Given the description of an element on the screen output the (x, y) to click on. 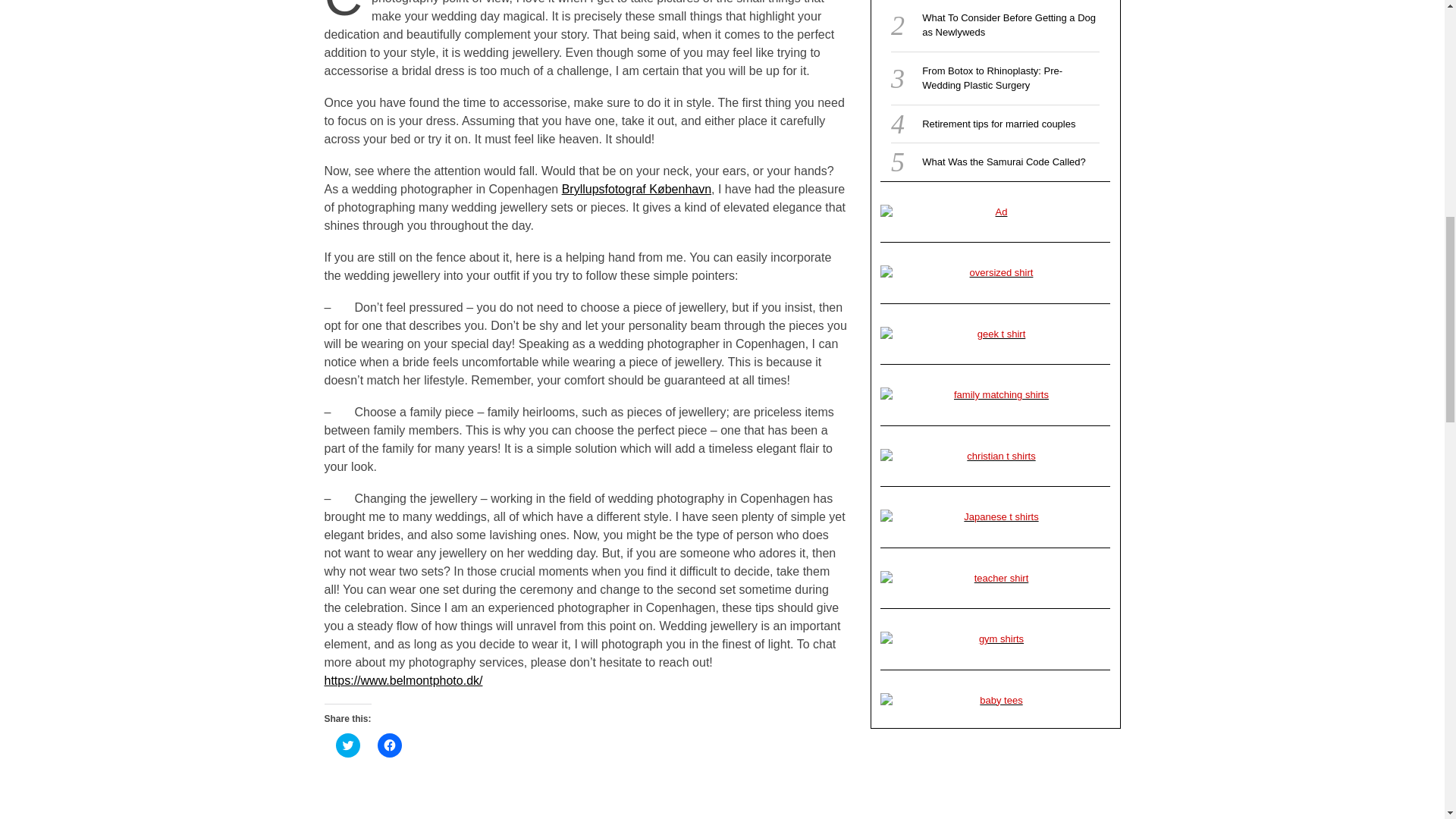
baby tees (994, 700)
teacher shirt (994, 578)
gym shirts (994, 639)
geek t shirt (994, 334)
Click to share on Facebook (389, 745)
family matching shirts (994, 394)
Click to share on Twitter (346, 745)
christian t shirts (994, 456)
oversized shirt (994, 272)
Japanese t shirts (994, 516)
